Given the description of an element on the screen output the (x, y) to click on. 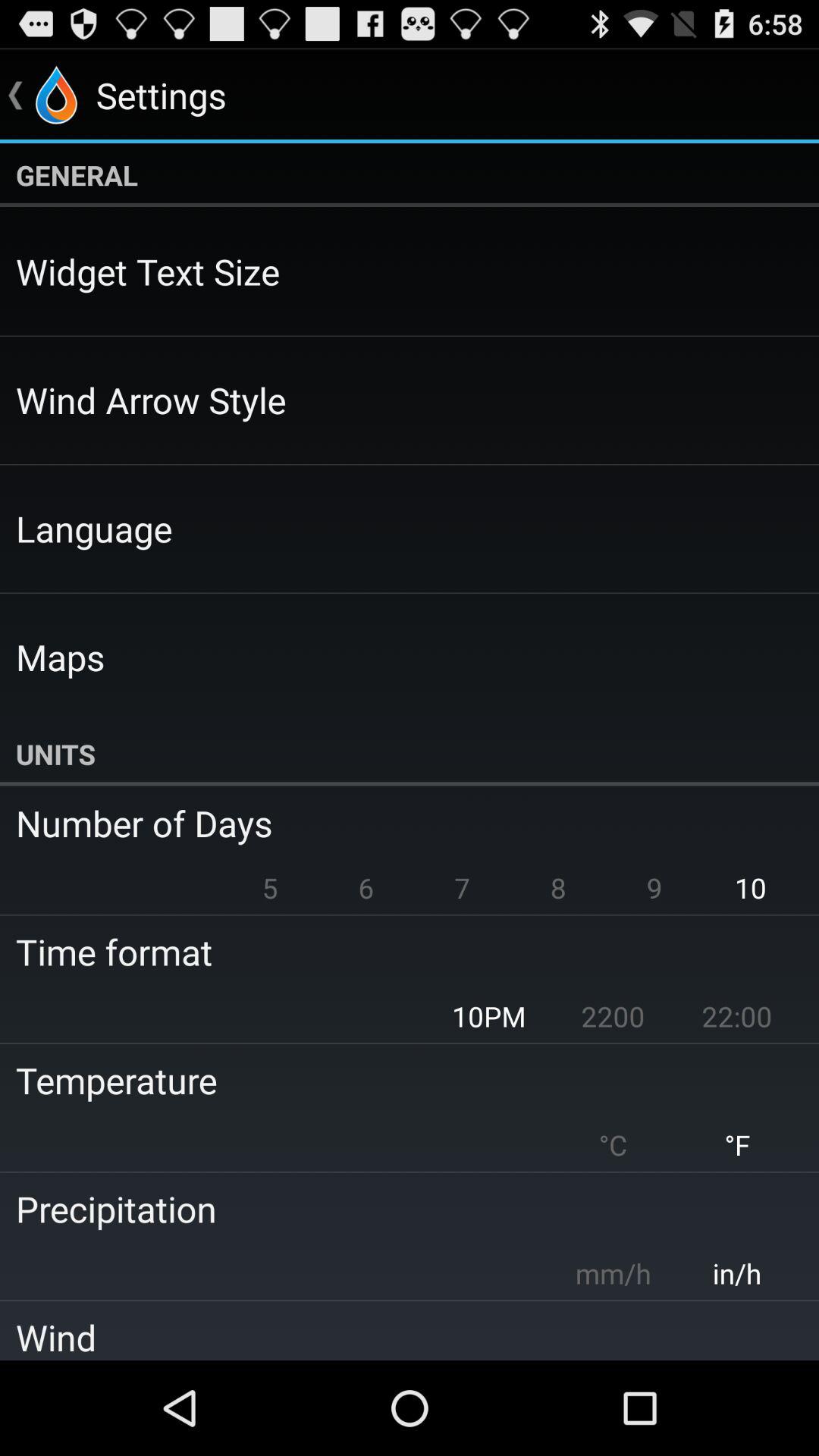
tap item to the right of 10pm item (613, 1016)
